Given the description of an element on the screen output the (x, y) to click on. 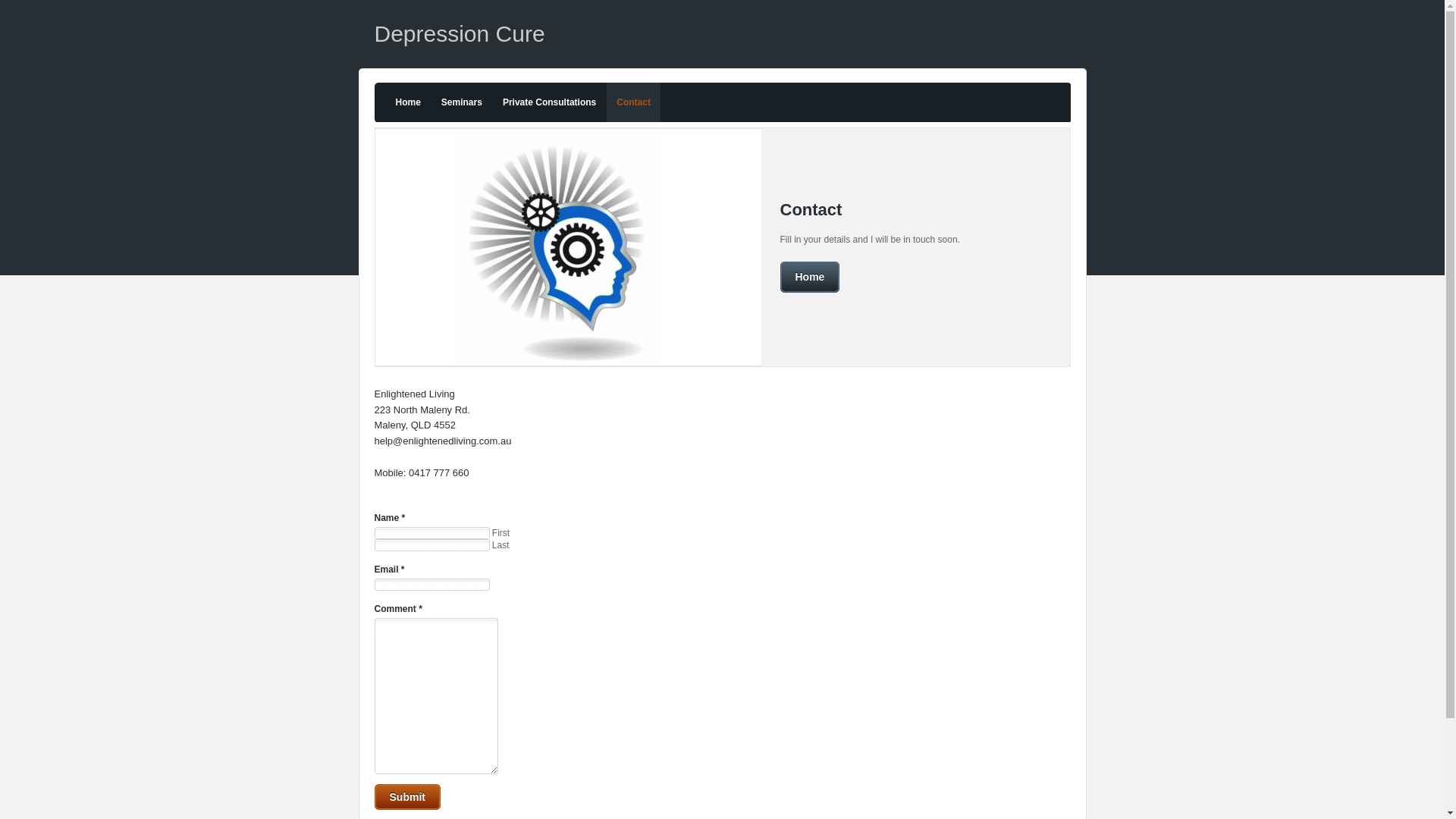
Home Element type: text (407, 102)
Home Element type: text (809, 276)
Seminars Element type: text (461, 102)
Depression Cure Element type: text (459, 33)
Private Consultations Element type: text (548, 102)
Contact Element type: text (633, 102)
Submit Element type: text (407, 796)
